Given the description of an element on the screen output the (x, y) to click on. 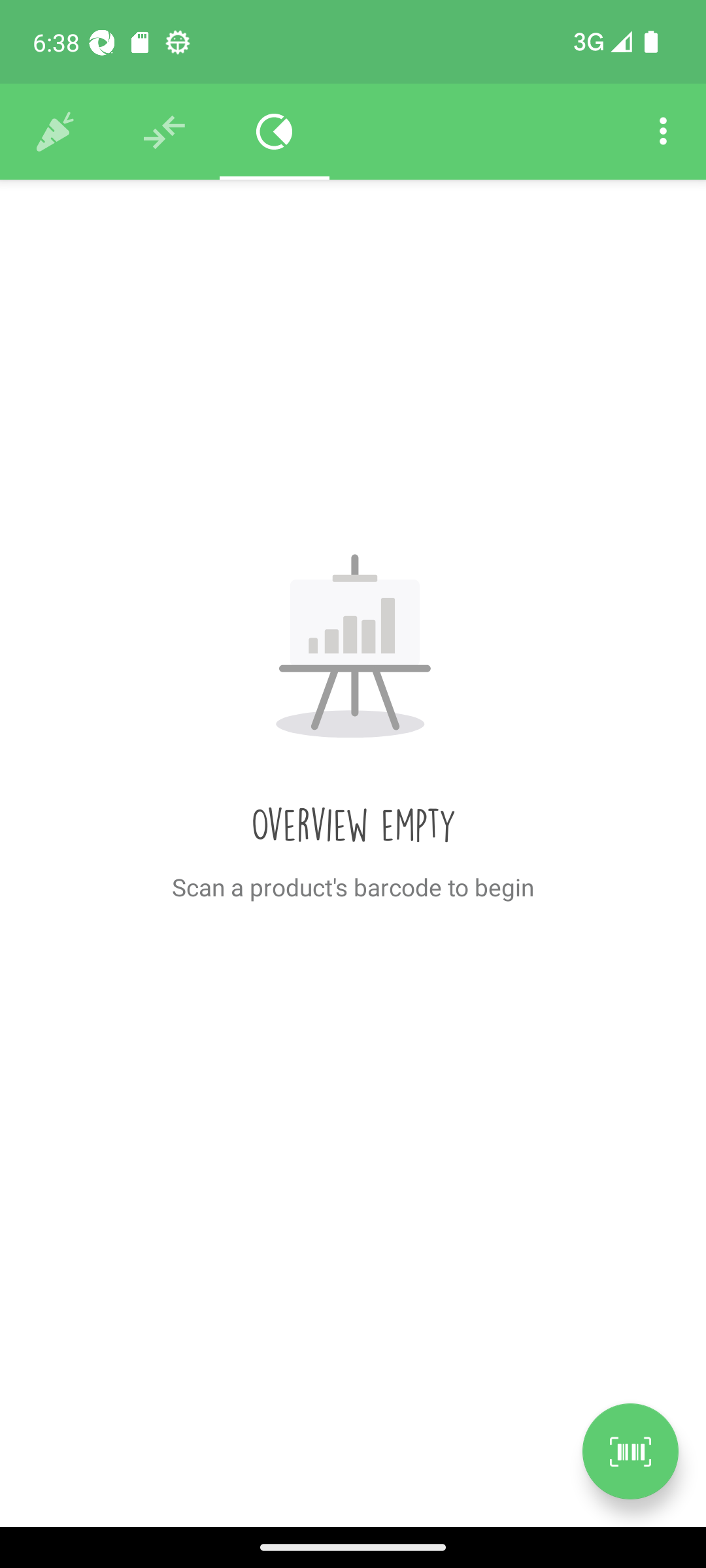
History (55, 131)
Recommendations (164, 131)
Settings (663, 131)
Scan a product (630, 1451)
